Given the description of an element on the screen output the (x, y) to click on. 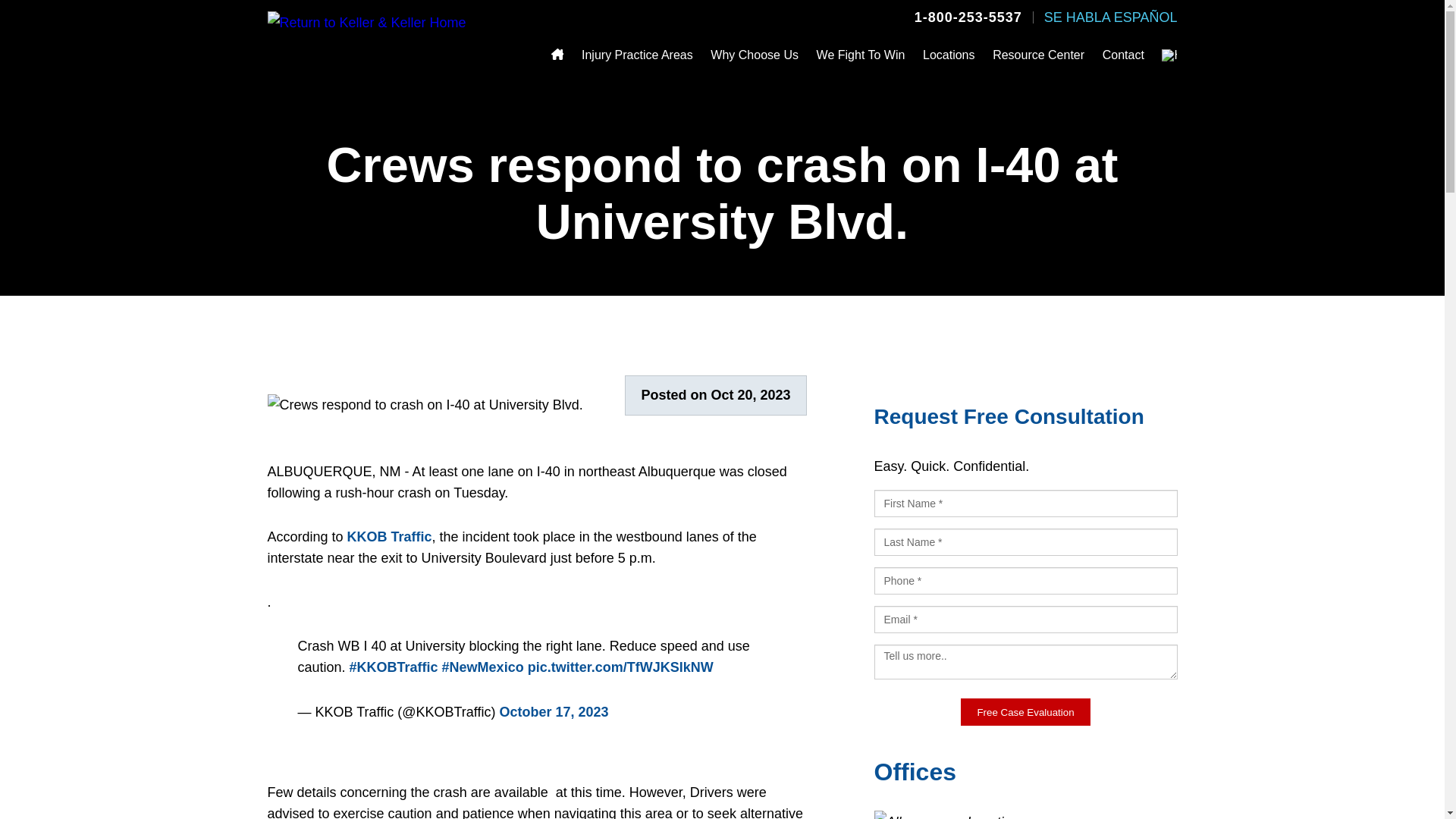
1-800-253-5537 (968, 17)
Locations (949, 55)
Injury Practice Areas (636, 55)
We Fight To Win (860, 55)
Why Choose Us (753, 55)
